Given the description of an element on the screen output the (x, y) to click on. 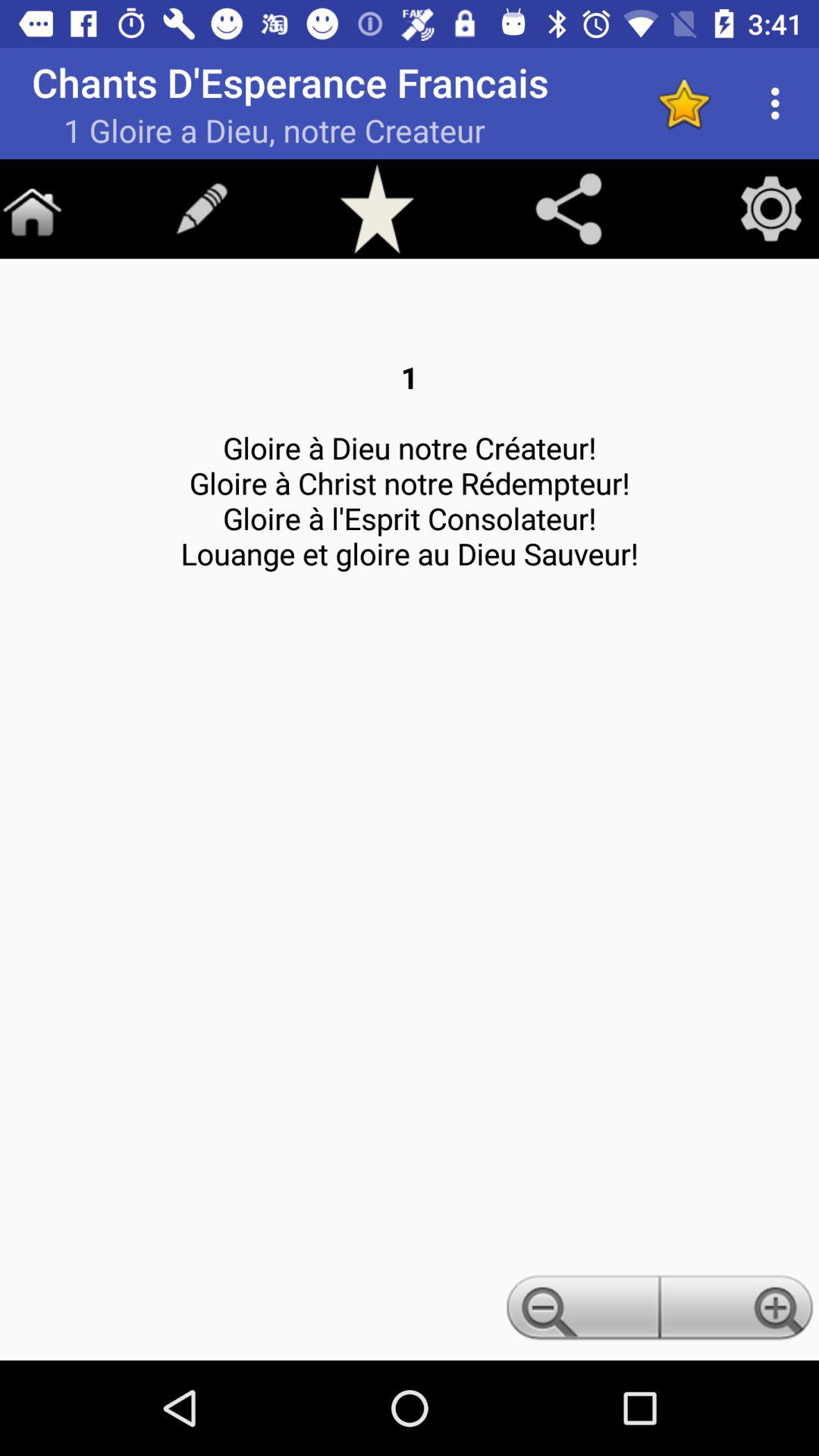
adding to favorite option (683, 103)
